Given the description of an element on the screen output the (x, y) to click on. 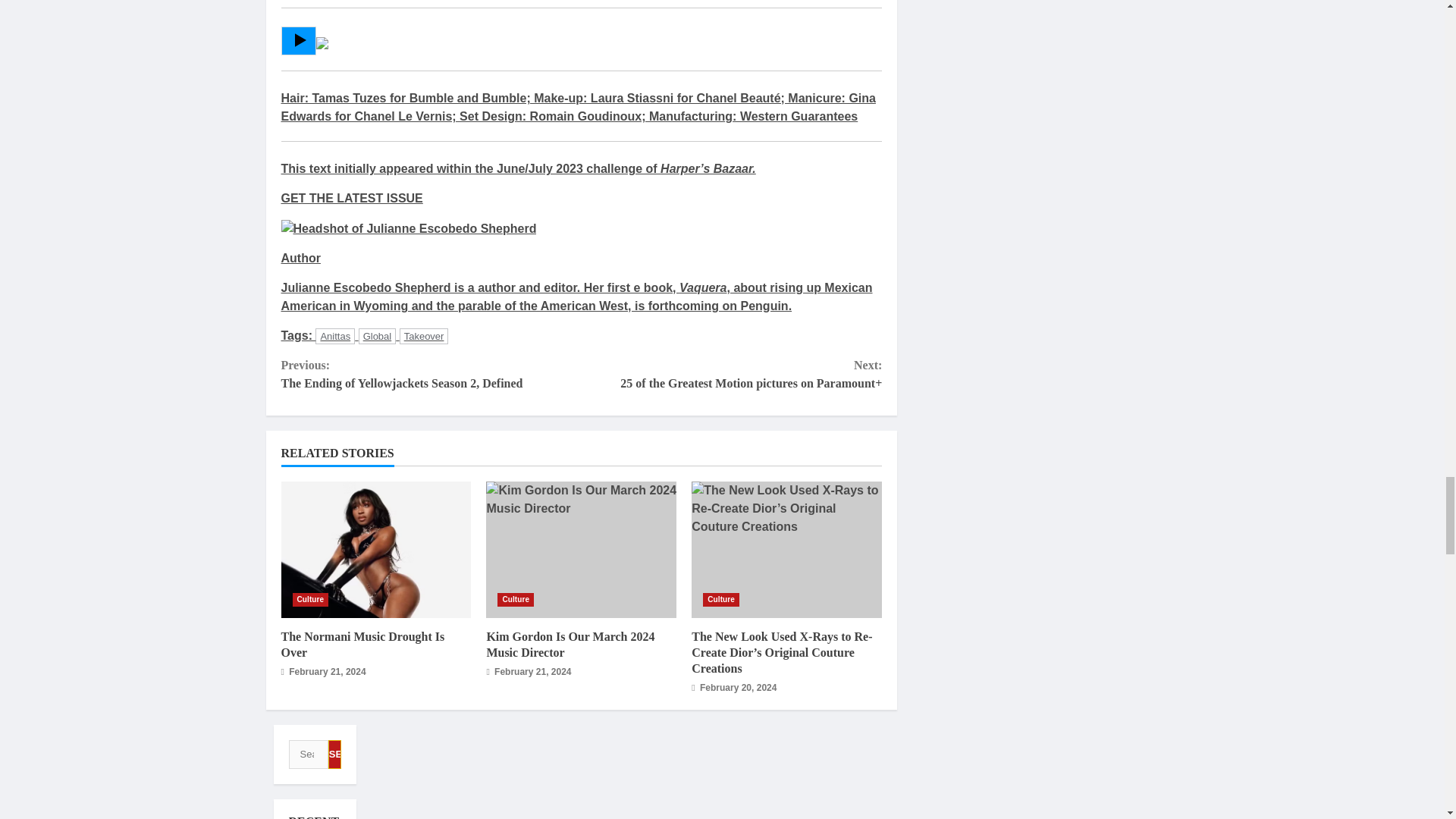
Culture (515, 599)
The Normani Music Drought Is Over (362, 644)
Anittas (335, 335)
PLAY ICONTHE TRIANGLE ICON THAT SIGNIFIES TO PLAY (298, 40)
Kim Gordon Is Our March 2024 Music Director (581, 549)
The Normani Music Drought Is Over (375, 549)
Culture (310, 599)
Global (377, 335)
PLAY ICONTHE TRIANGLE ICON THAT SIGNIFIES TO PLAY (298, 40)
Culture (430, 374)
Takeover (721, 599)
Kim Gordon Is Our March 2024 Music Director (423, 335)
